Given the description of an element on the screen output the (x, y) to click on. 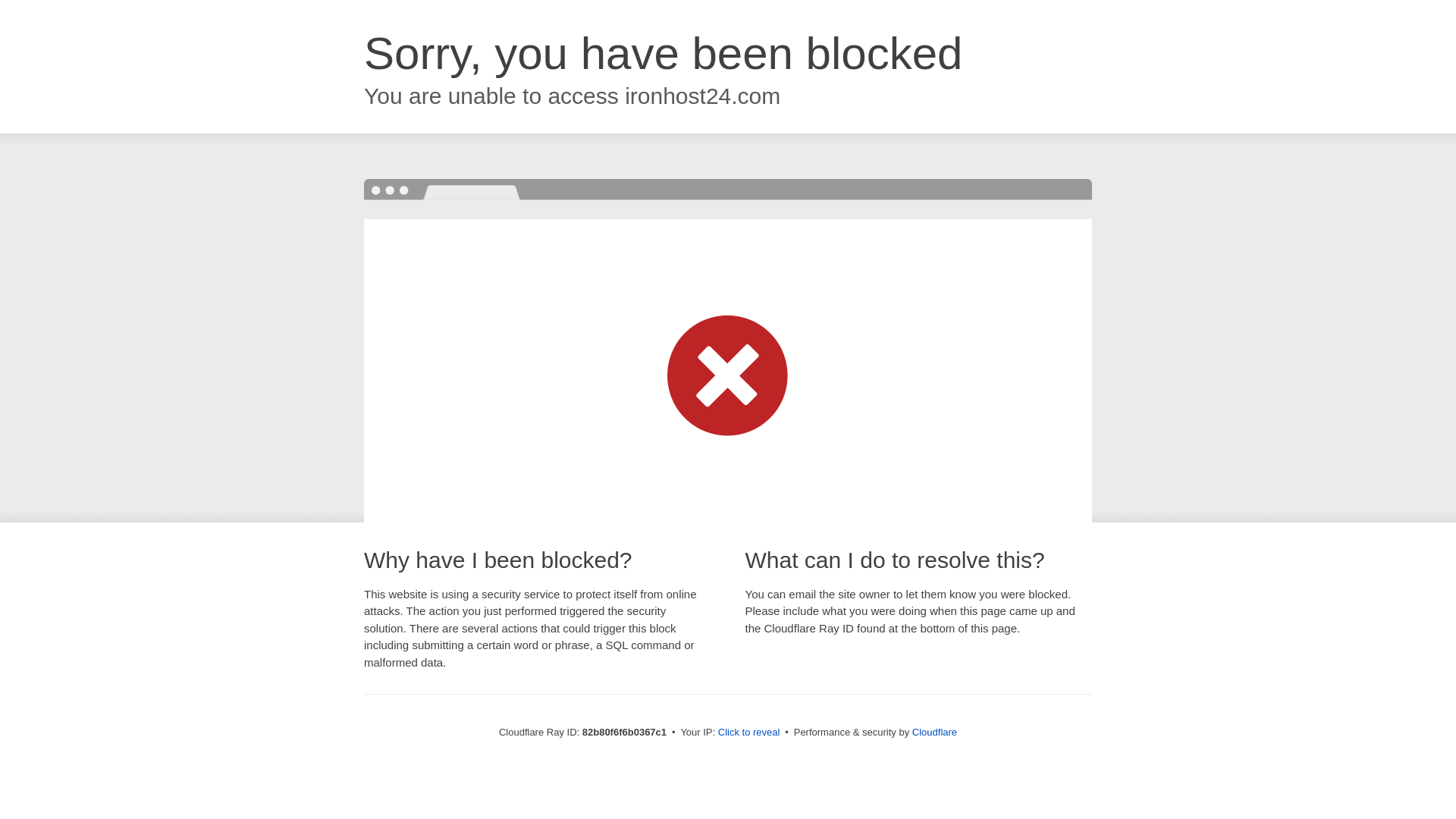
Click to reveal Element type: text (749, 732)
Cloudflare Element type: text (934, 731)
